Given the description of an element on the screen output the (x, y) to click on. 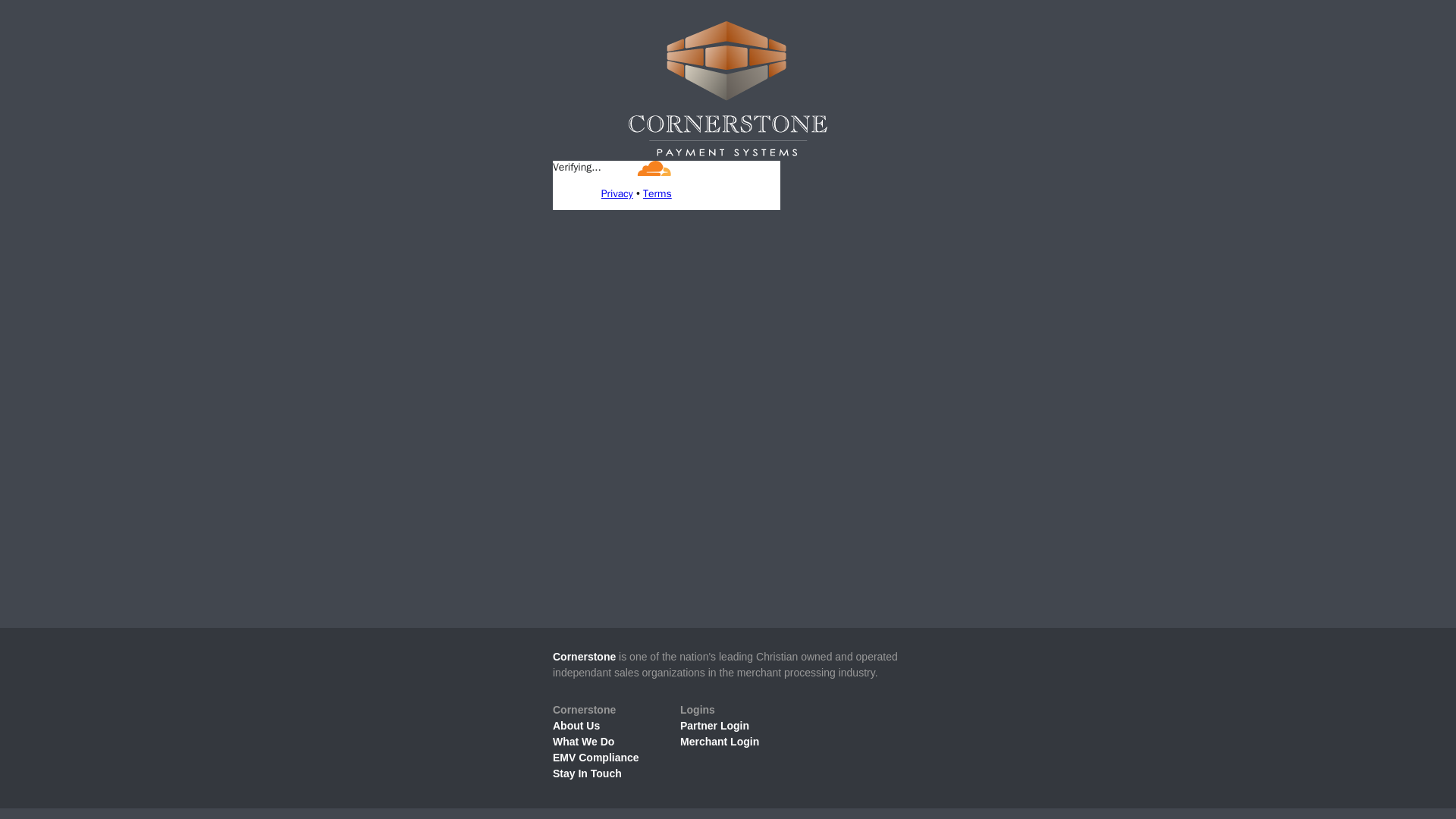
Stay In Touch (587, 773)
Partner Login (714, 725)
Cornerstone (584, 656)
EMV Compliance (596, 757)
Merchant Login (718, 741)
About Us (576, 725)
What We Do (583, 741)
